Given the description of an element on the screen output the (x, y) to click on. 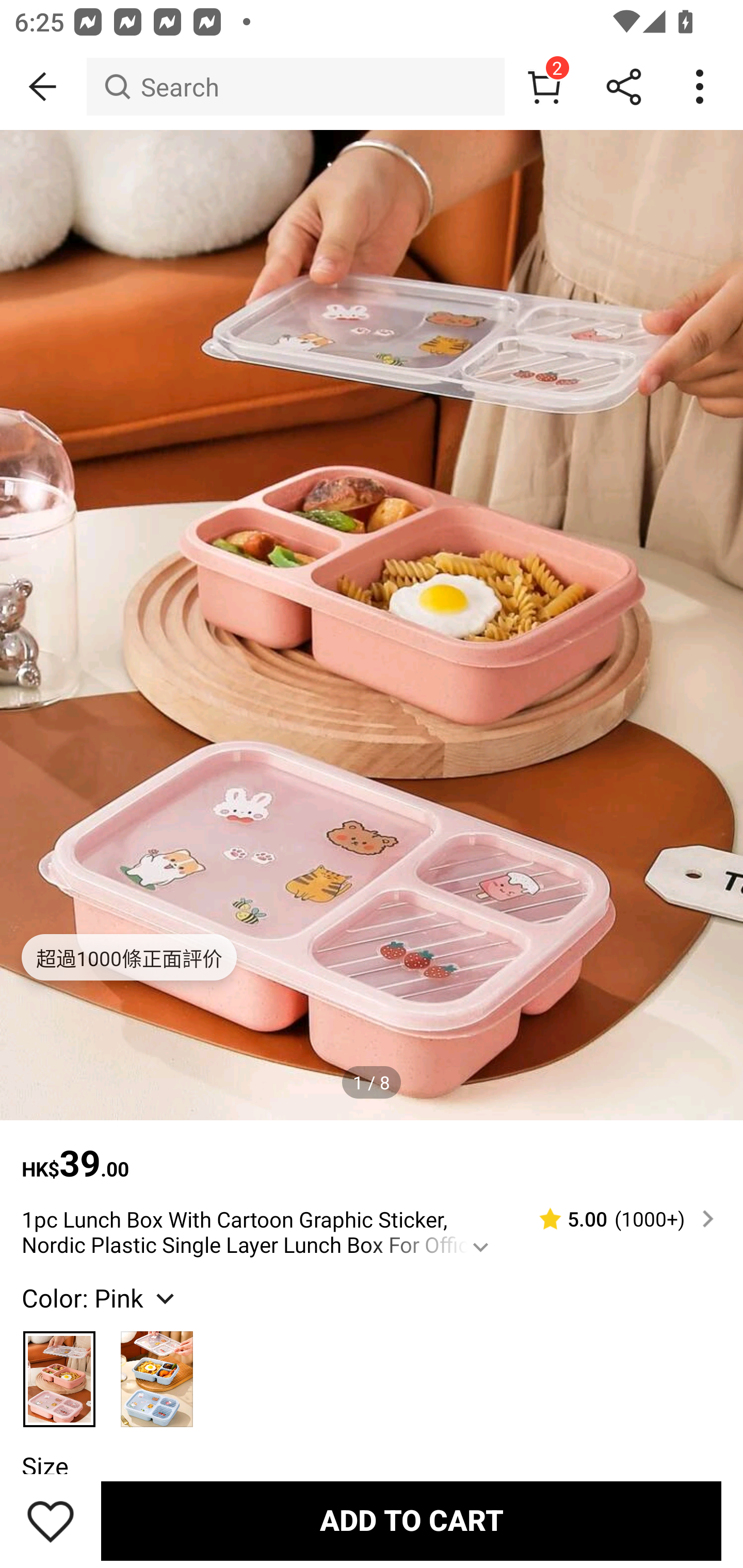
BACK (43, 86)
2 (543, 87)
Search (295, 87)
1 / 8 (371, 1082)
HK$39.00 (371, 1152)
5.00 (1000‎+) (617, 1219)
Color: Pink (100, 1297)
Pink (59, 1369)
Multicolor (156, 1369)
Size (44, 1465)
ADD TO CART (411, 1520)
Save (50, 1520)
